Given the description of an element on the screen output the (x, y) to click on. 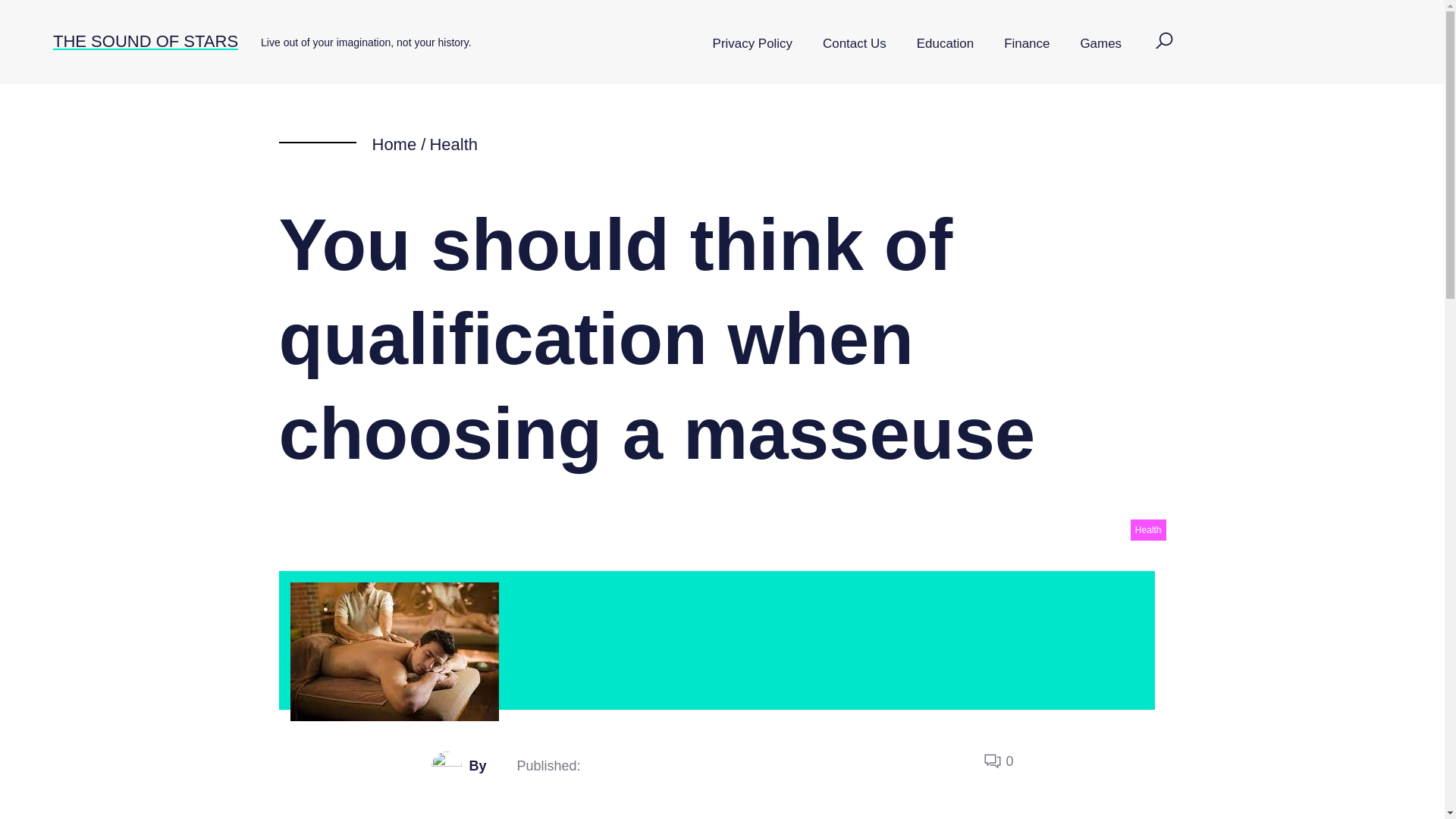
Education (944, 43)
Games (1100, 43)
Contact Us (854, 43)
THE SOUND OF STARS (145, 40)
Health (453, 144)
Health (1148, 529)
Finance (1026, 43)
Privacy Policy (752, 43)
Home (393, 144)
